Given the description of an element on the screen output the (x, y) to click on. 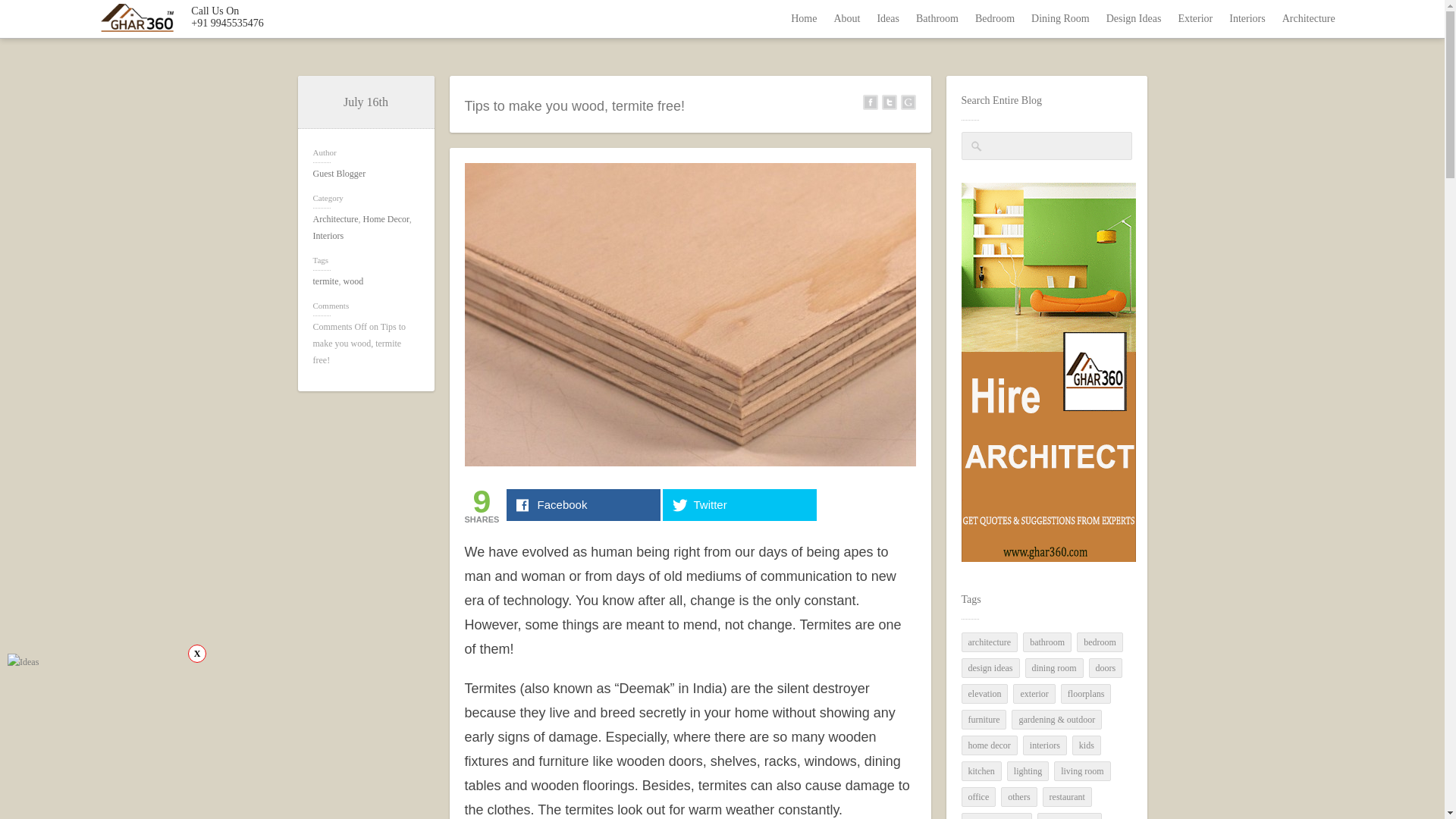
Home (804, 18)
48 topics (1056, 719)
34 topics (1033, 693)
105 topics (988, 641)
62 topics (1099, 641)
About (846, 18)
Dining Room (1060, 18)
17 topics (1054, 668)
Bedroom (994, 18)
Interiors (1246, 18)
